Given the description of an element on the screen output the (x, y) to click on. 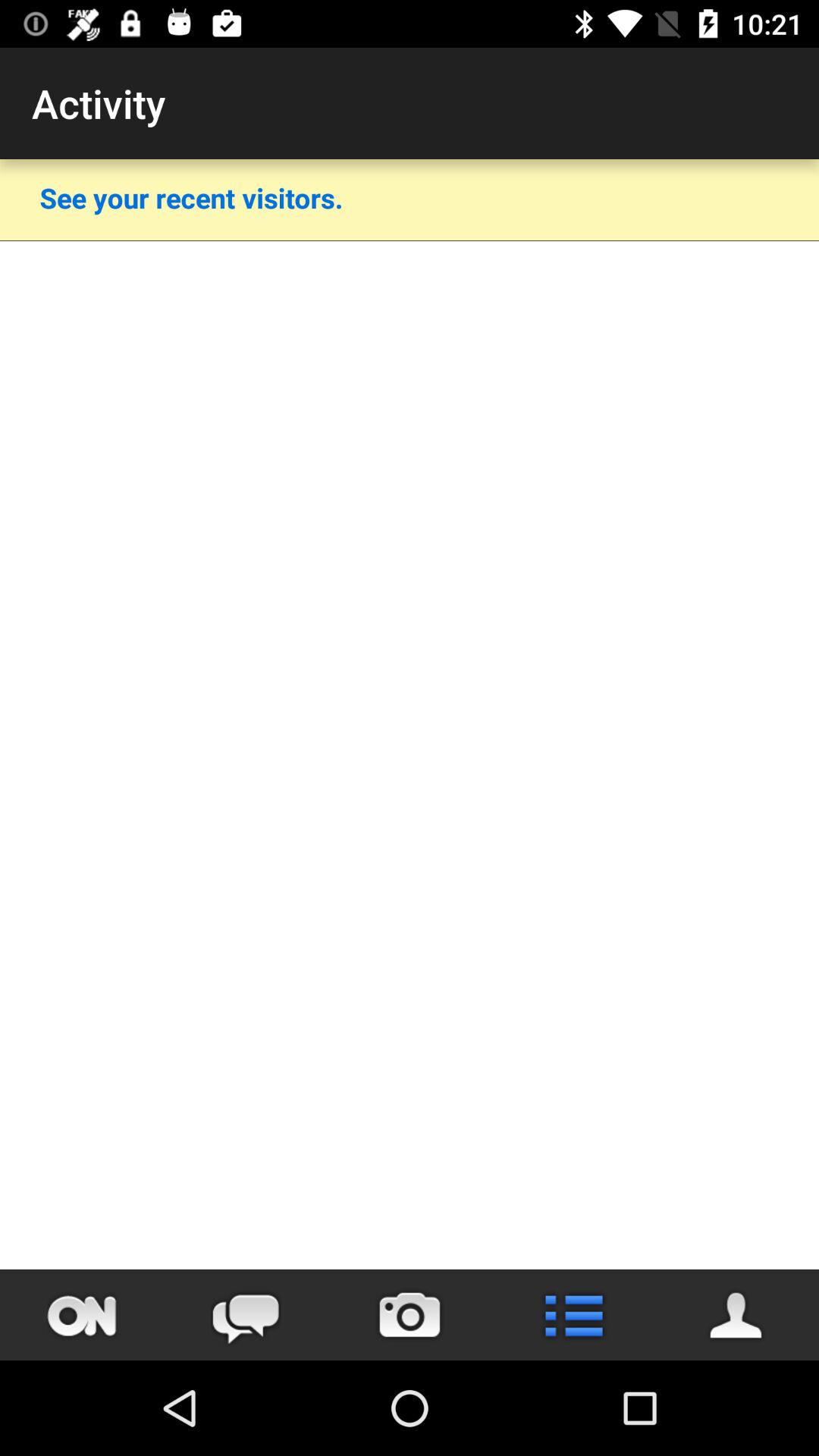
chat message (245, 1315)
